Given the description of an element on the screen output the (x, y) to click on. 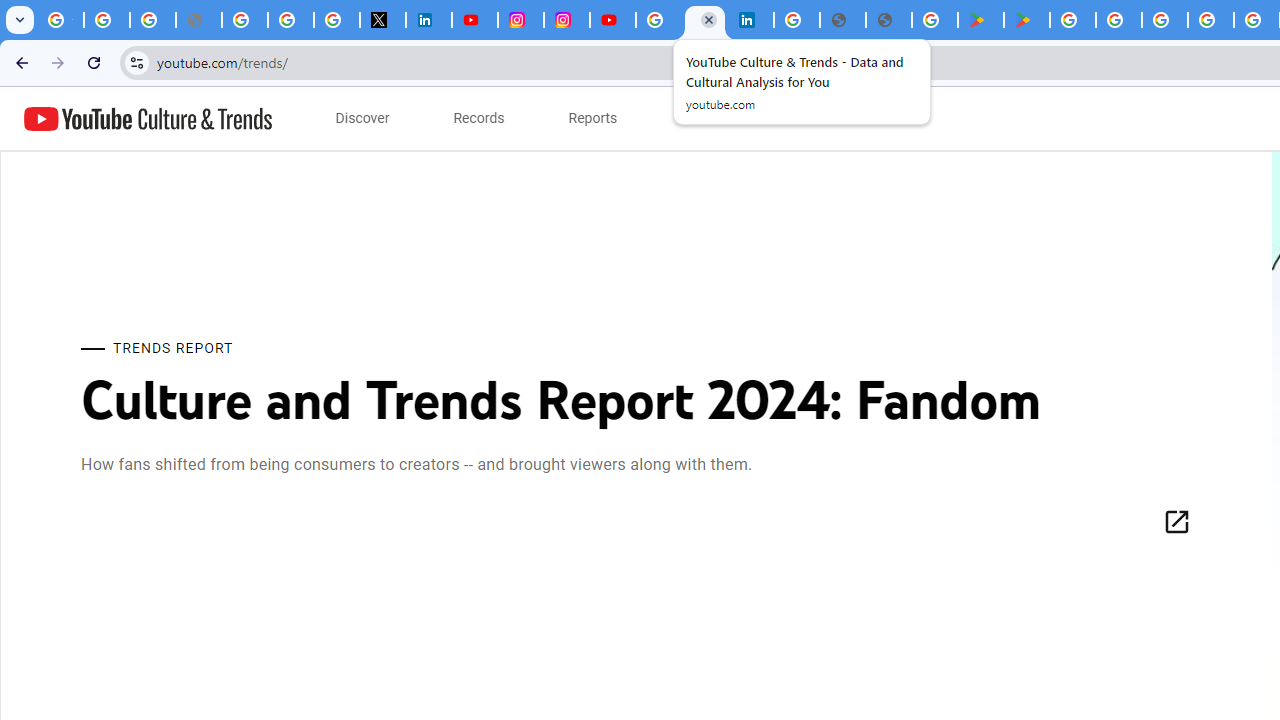
Sign in - Google Accounts (659, 20)
support.google.com - Network error (198, 20)
subnav-Discover menupopup (362, 118)
subnav-Records menupopup (479, 118)
YouTube Culture & Trends (147, 118)
subnav-More menupopup (704, 118)
subnav-More menupopup (704, 118)
